Given the description of an element on the screen output the (x, y) to click on. 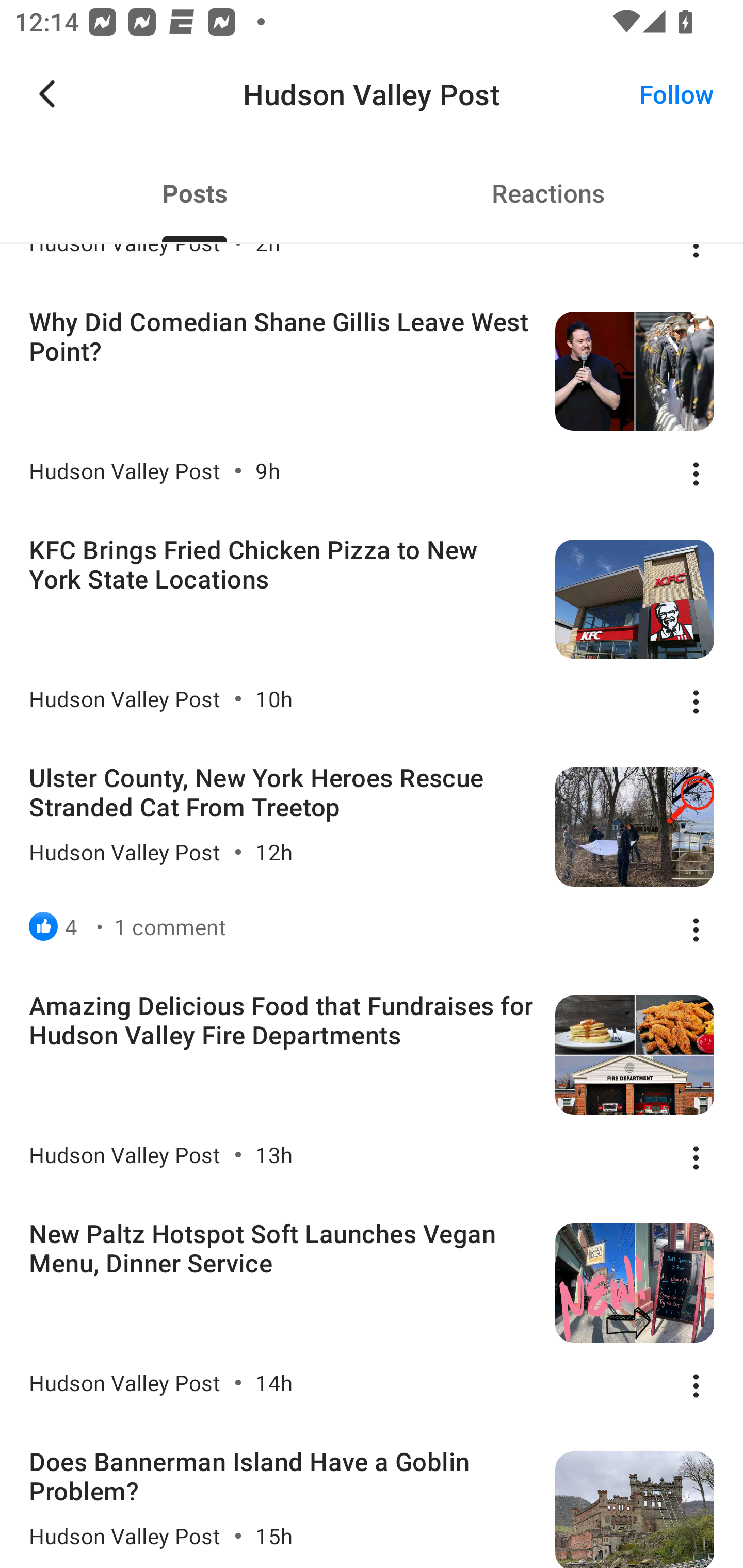
Follow (676, 93)
Reactions (548, 192)
